Given the description of an element on the screen output the (x, y) to click on. 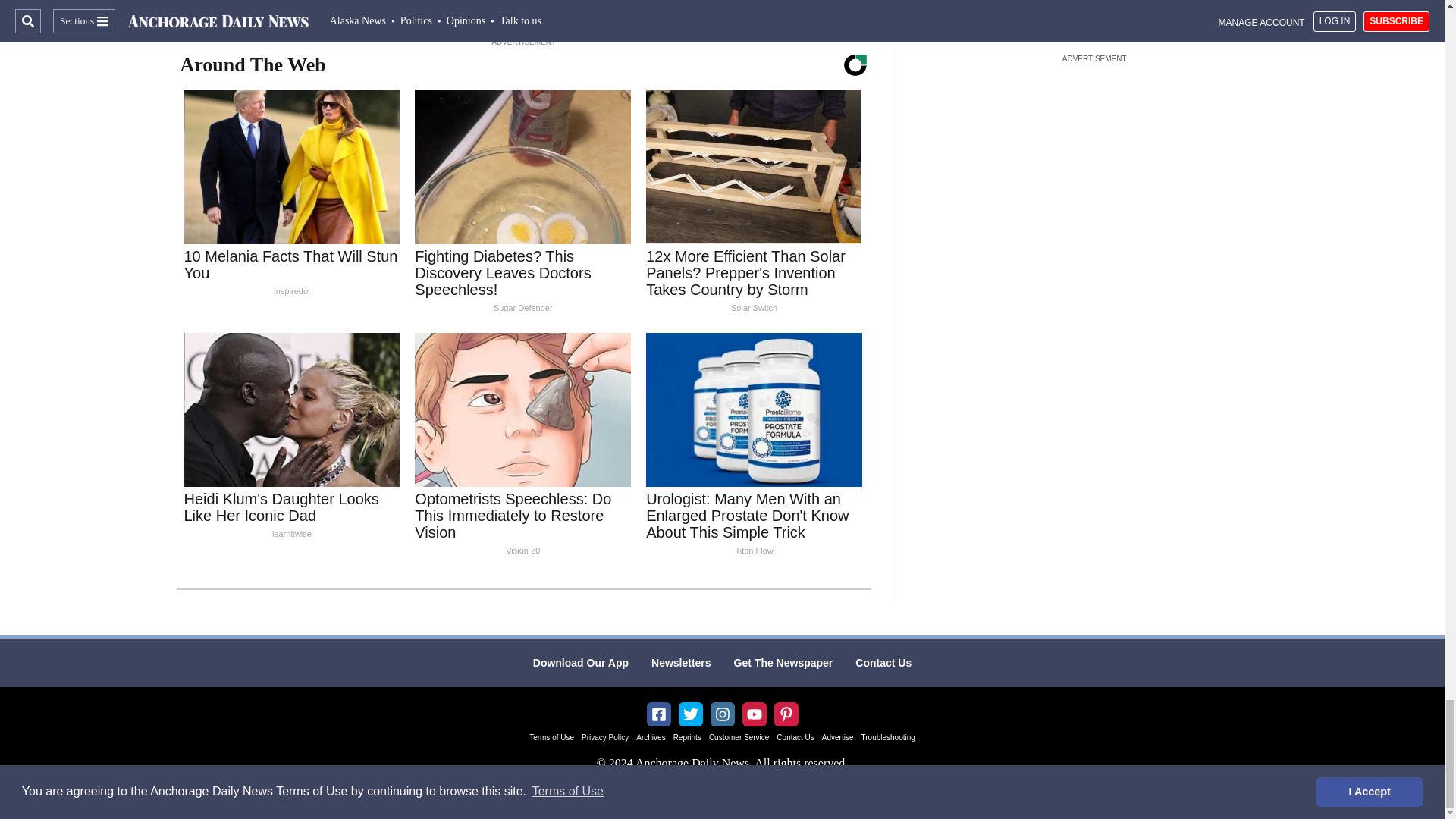
Twitter IconTwitter Account for Anchorage Daily News (689, 713)
Instagram IconAnchorage Daily News instagram account (721, 713)
YouTube iconAnchorage Daily News YouTube channel (753, 713)
Facebook IconAnchorage Daily News Facebook Page (657, 713)
PinterestAnchorage Daily News Pinterest Account (785, 713)
